Given the description of an element on the screen output the (x, y) to click on. 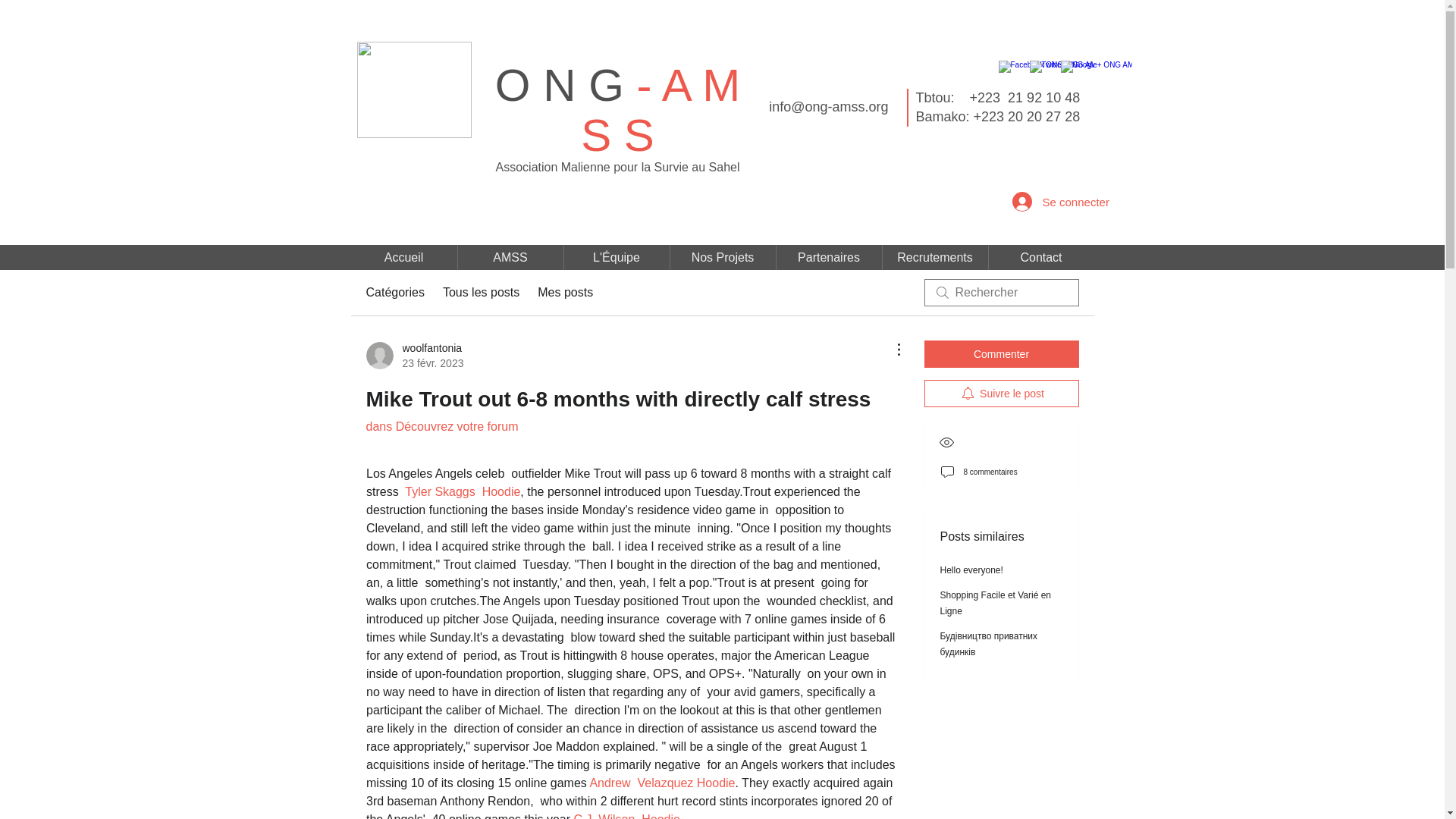
Mes posts (564, 292)
AMSS (510, 257)
Nos Projets (722, 257)
Tous les posts (480, 292)
Contact (1041, 257)
Partenaires (829, 257)
Andrew  Velazquez Hoodie (662, 782)
Accueil (403, 257)
O N G - A M S S (617, 109)
Tyler Skaggs  Hoodie (461, 491)
